Given the description of an element on the screen output the (x, y) to click on. 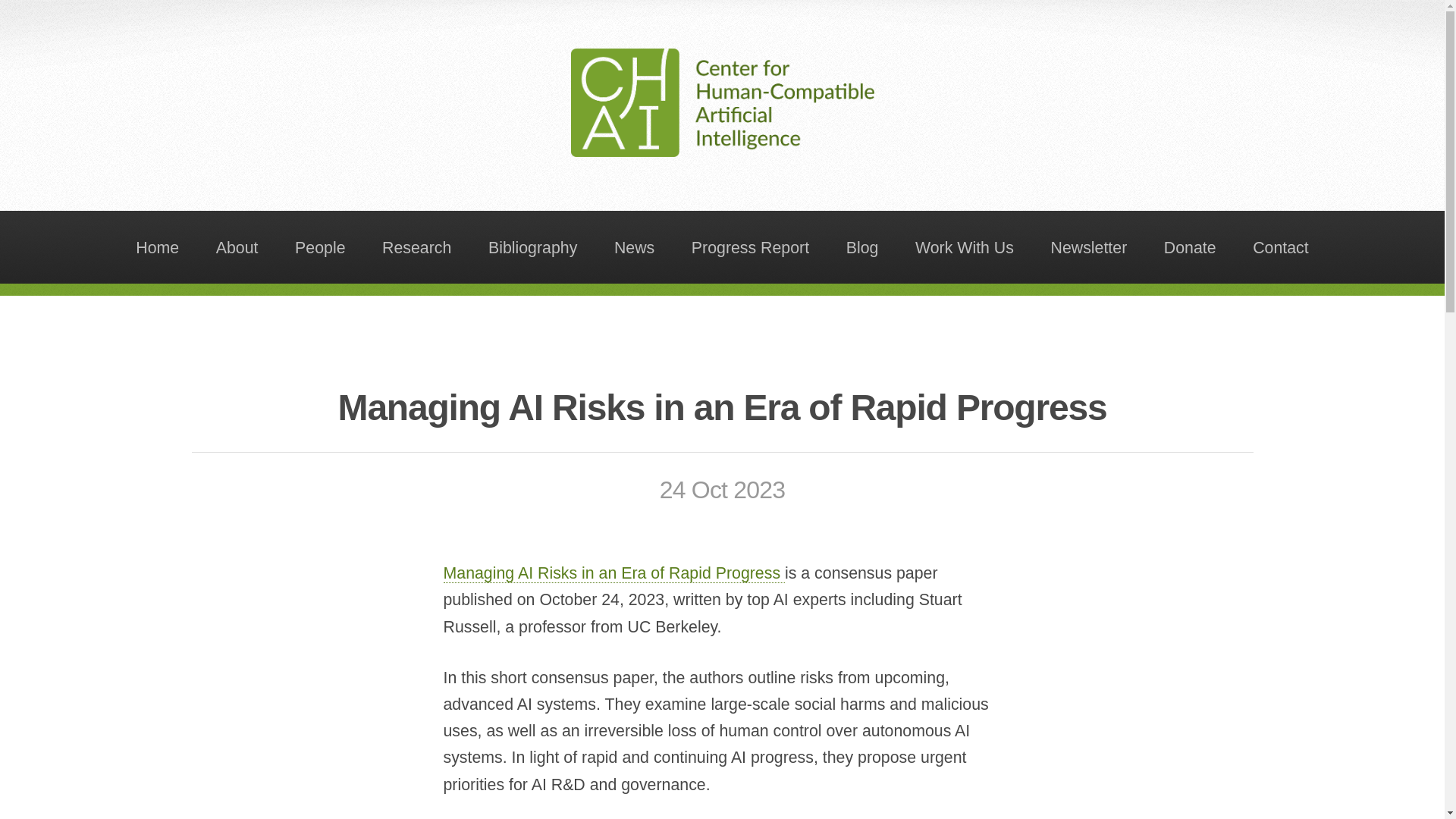
Research (417, 246)
Bibliography (532, 246)
Contact (1280, 246)
Newsletter (1088, 246)
People (319, 246)
Managing AI Risks in an Era of Rapid Progress (613, 573)
Donate (1190, 246)
Progress Report (749, 246)
Work With Us (964, 246)
